Given the description of an element on the screen output the (x, y) to click on. 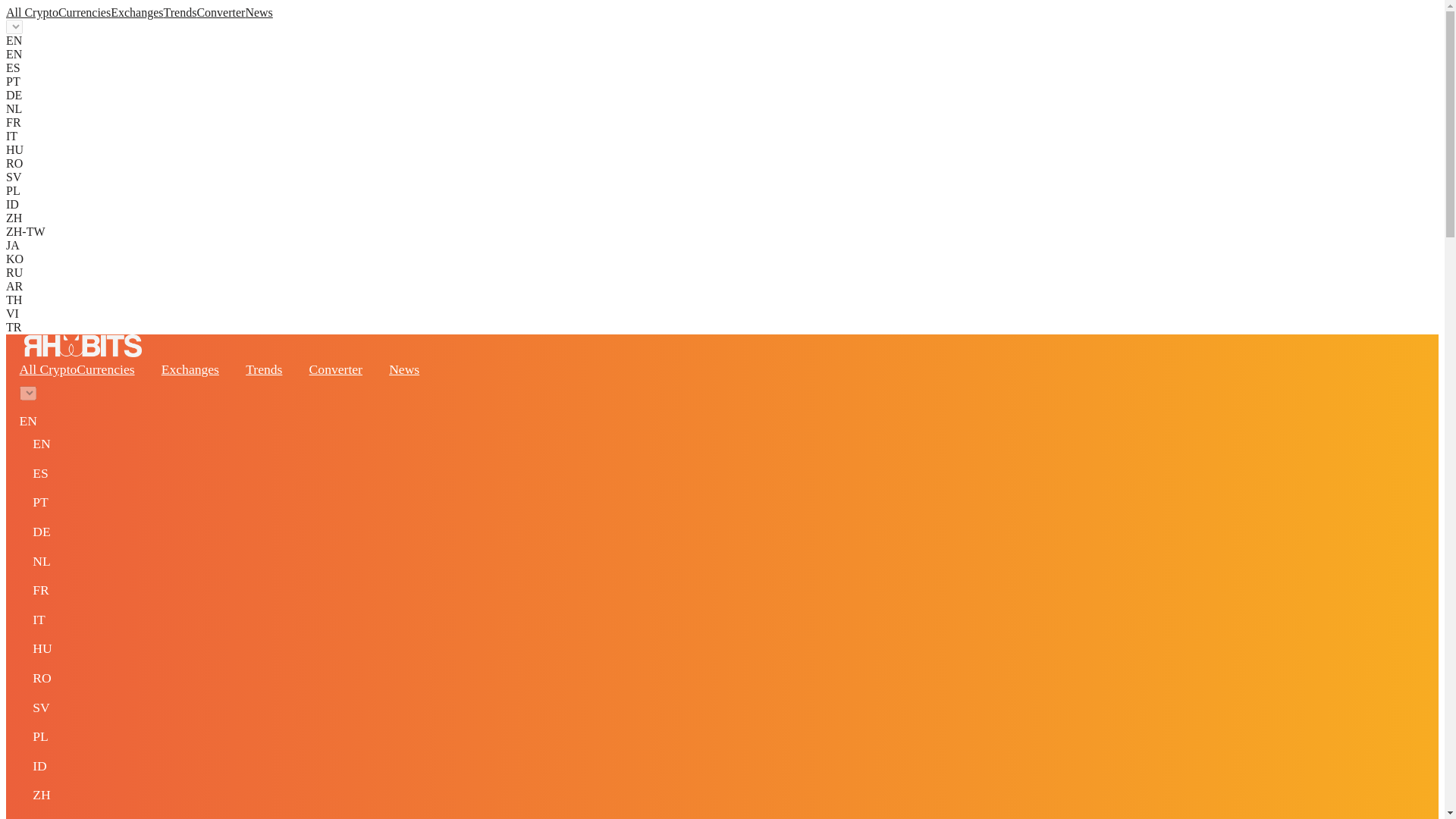
News (258, 11)
Exchanges (136, 11)
Exchanges (189, 369)
All CryptoCurrencies (76, 369)
News (403, 369)
Converter (335, 369)
Trends (179, 11)
Trends (263, 369)
Converter (220, 11)
All CryptoCurrencies (57, 11)
